Given the description of an element on the screen output the (x, y) to click on. 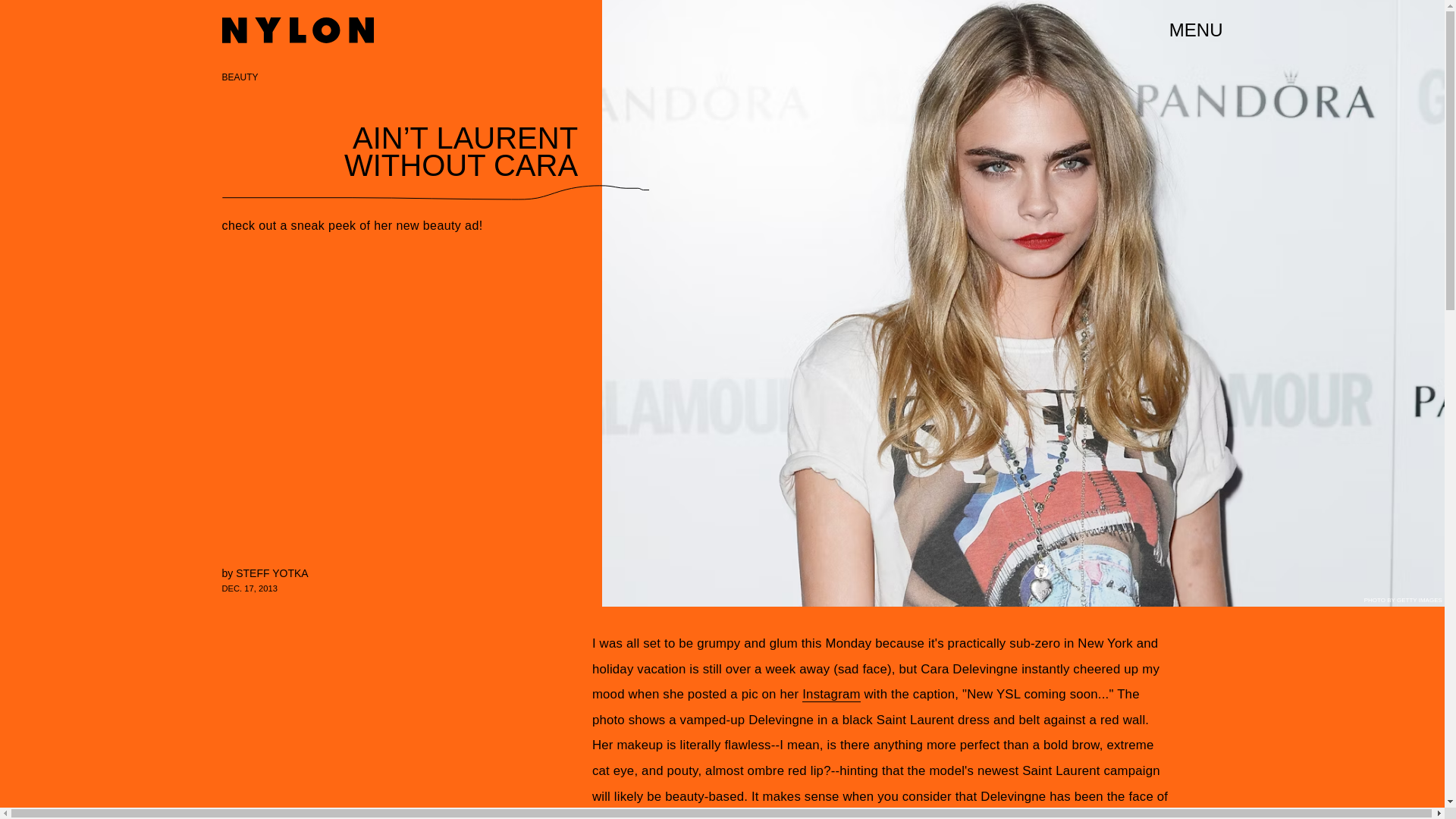
Instagram (831, 694)
Nylon (296, 30)
